Given the description of an element on the screen output the (x, y) to click on. 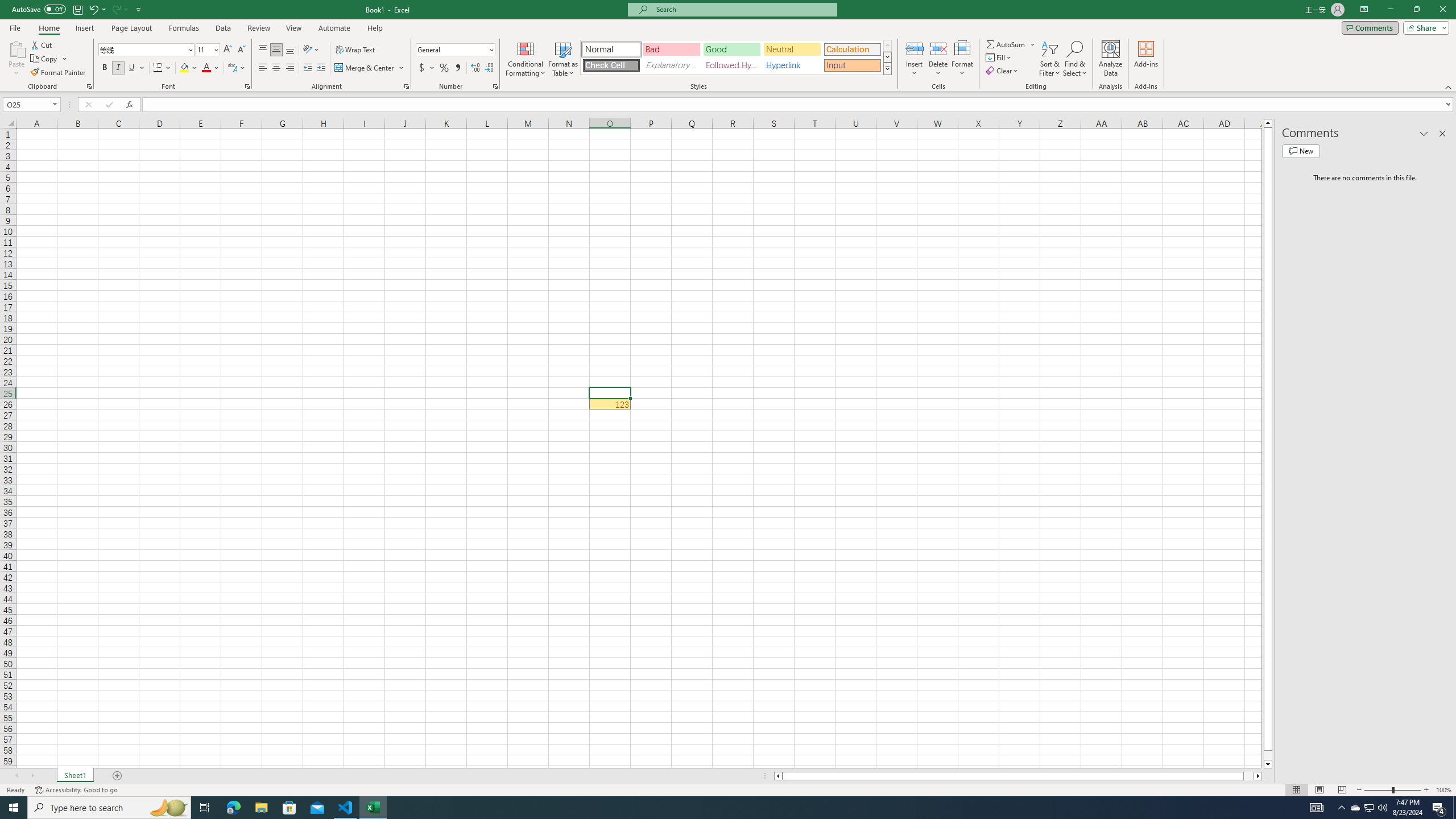
Middle Align (276, 49)
Increase Font Size (227, 49)
Cell Styles (887, 68)
Center (276, 67)
Show Phonetic Field (236, 67)
New comment (1300, 151)
Decrease Decimal (489, 67)
Bad (671, 49)
Copy (45, 58)
Office Clipboard... (88, 85)
